Given the description of an element on the screen output the (x, y) to click on. 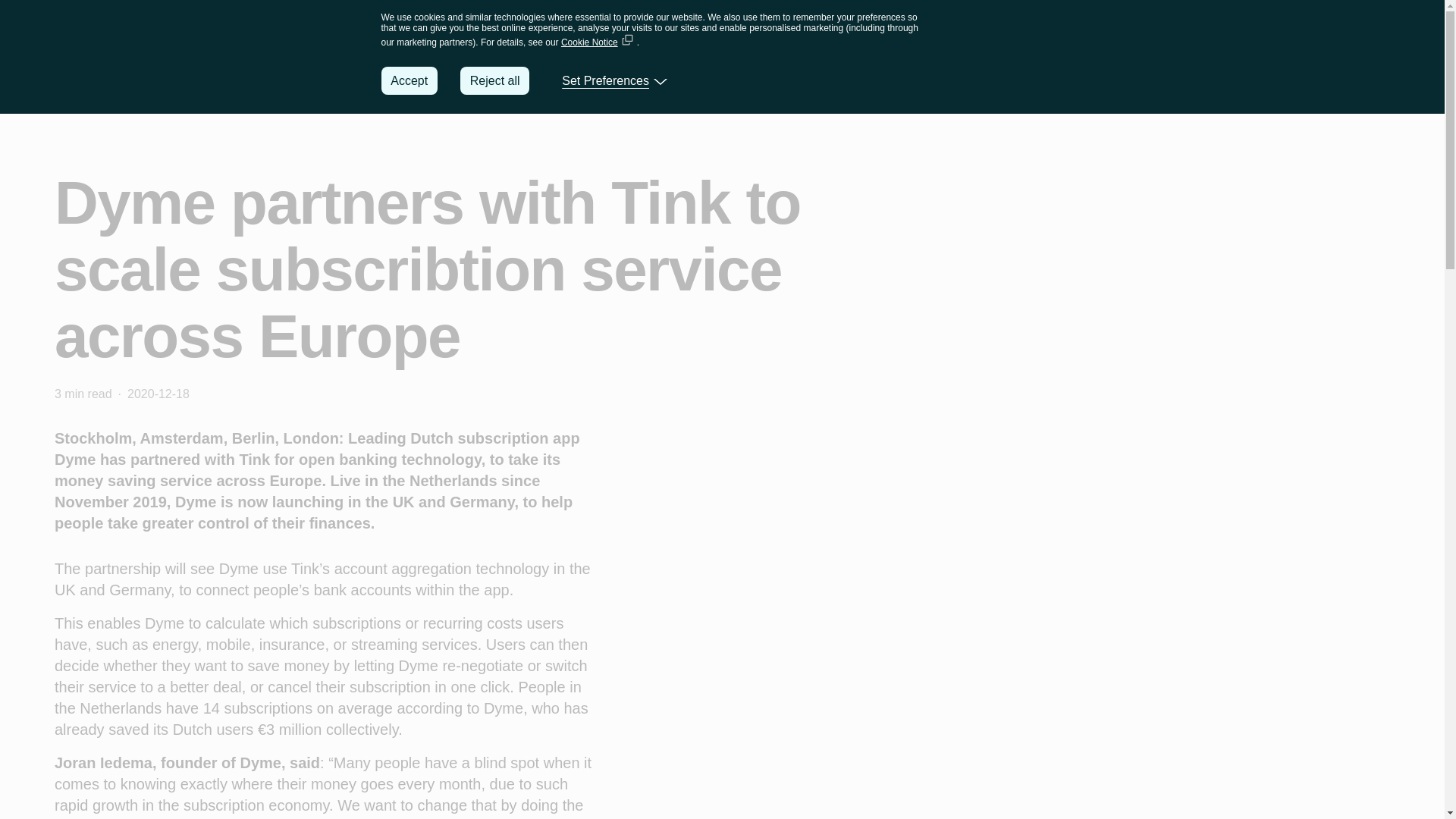
Contact us (1352, 84)
Log in (1274, 84)
Developers (763, 85)
Solutions (572, 85)
About Tink (865, 85)
Products (665, 85)
